Given the description of an element on the screen output the (x, y) to click on. 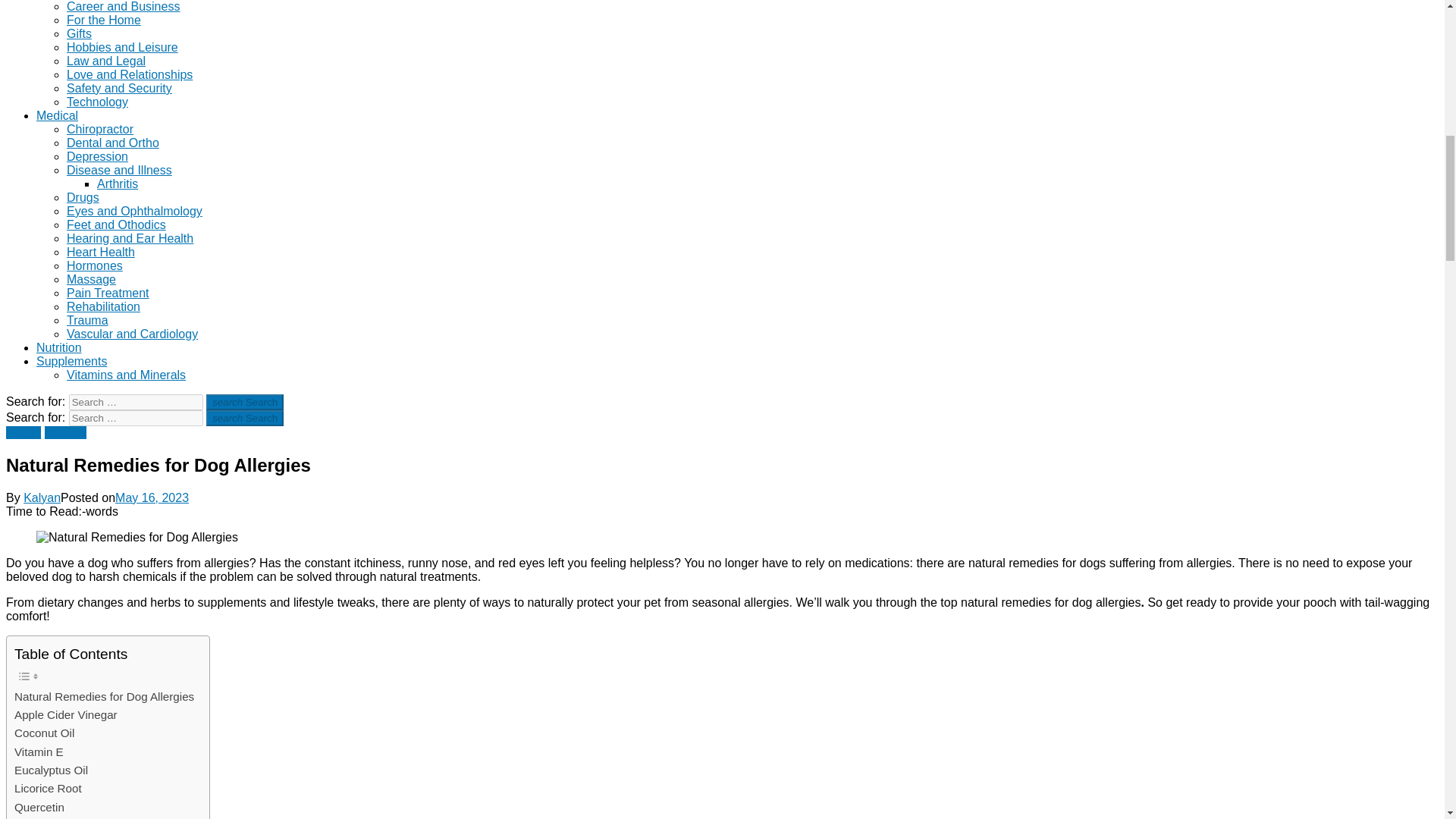
Eucalyptus Oil (50, 770)
Natural Remedies for Dog Allergies (103, 696)
Coconut Oil (44, 732)
Omega-3 Fatty Acids (68, 817)
Quercetin (39, 807)
Licorice Root (47, 788)
Vitamin E (39, 751)
Apple Cider Vinegar (65, 714)
